Given the description of an element on the screen output the (x, y) to click on. 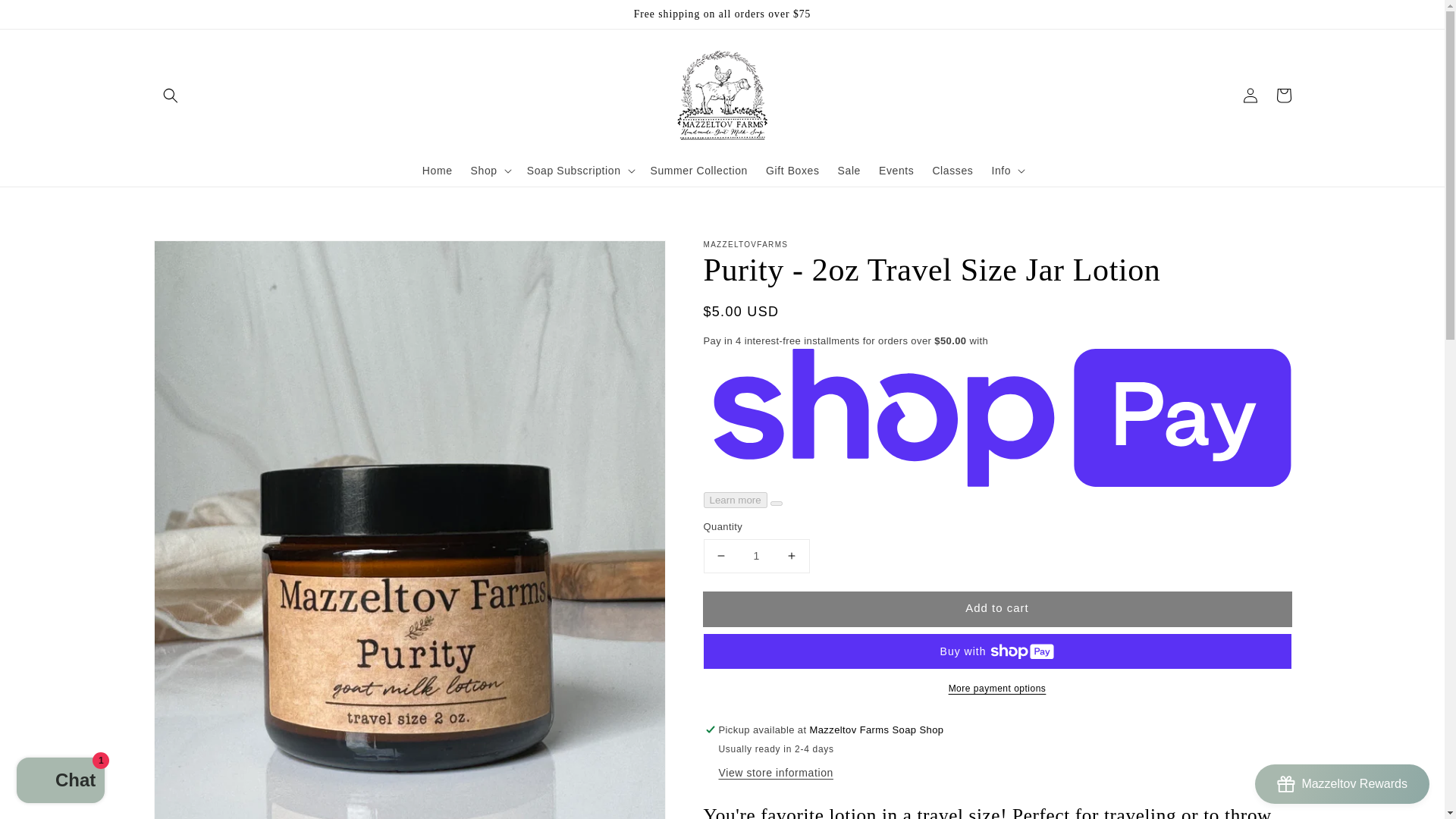
Shopify online store chat (60, 781)
1 (756, 555)
Home (437, 170)
Skip to content (45, 16)
